Given the description of an element on the screen output the (x, y) to click on. 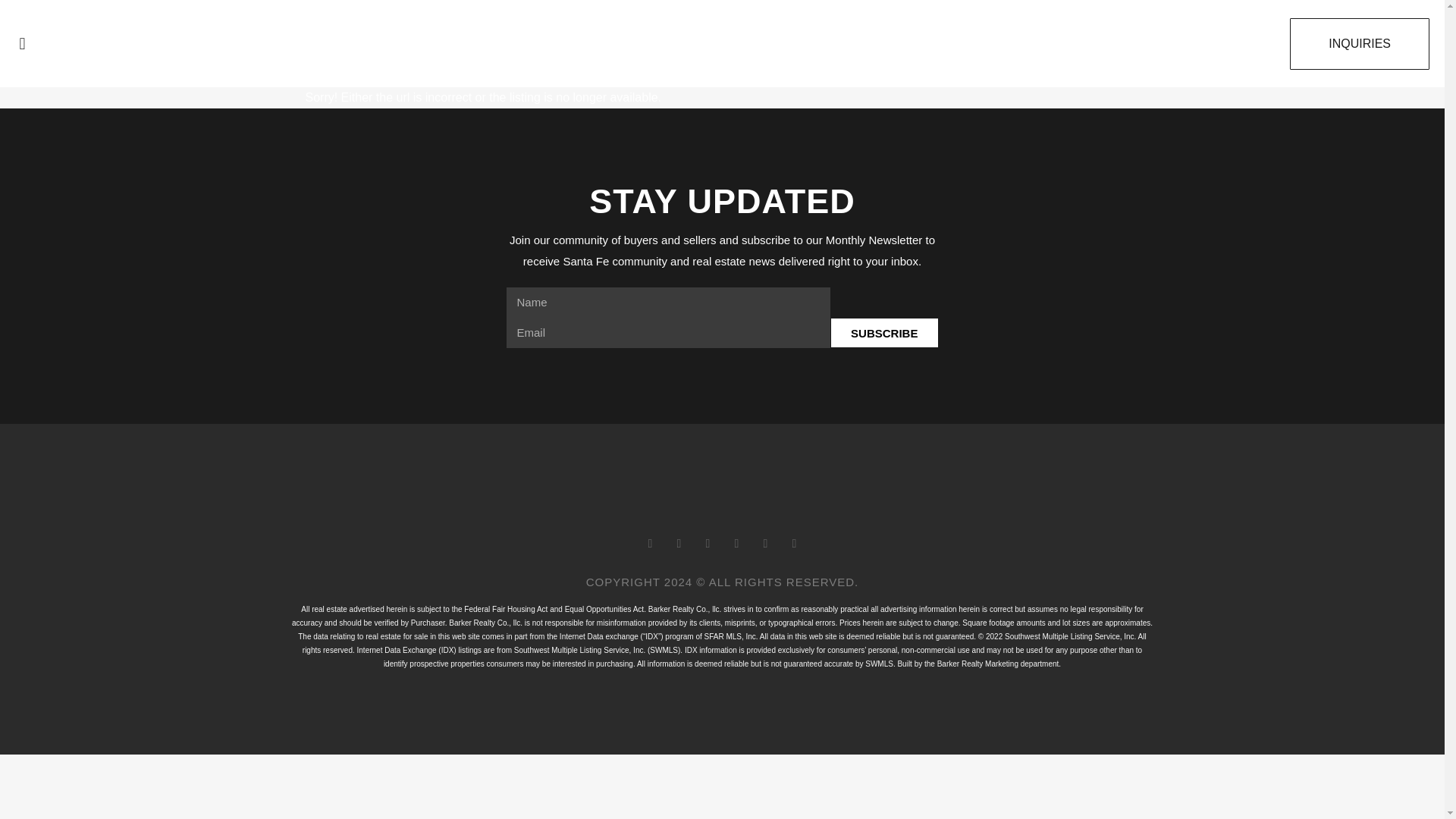
INQUIRIES (1359, 43)
SUBSCRIBE (884, 332)
